Given the description of an element on the screen output the (x, y) to click on. 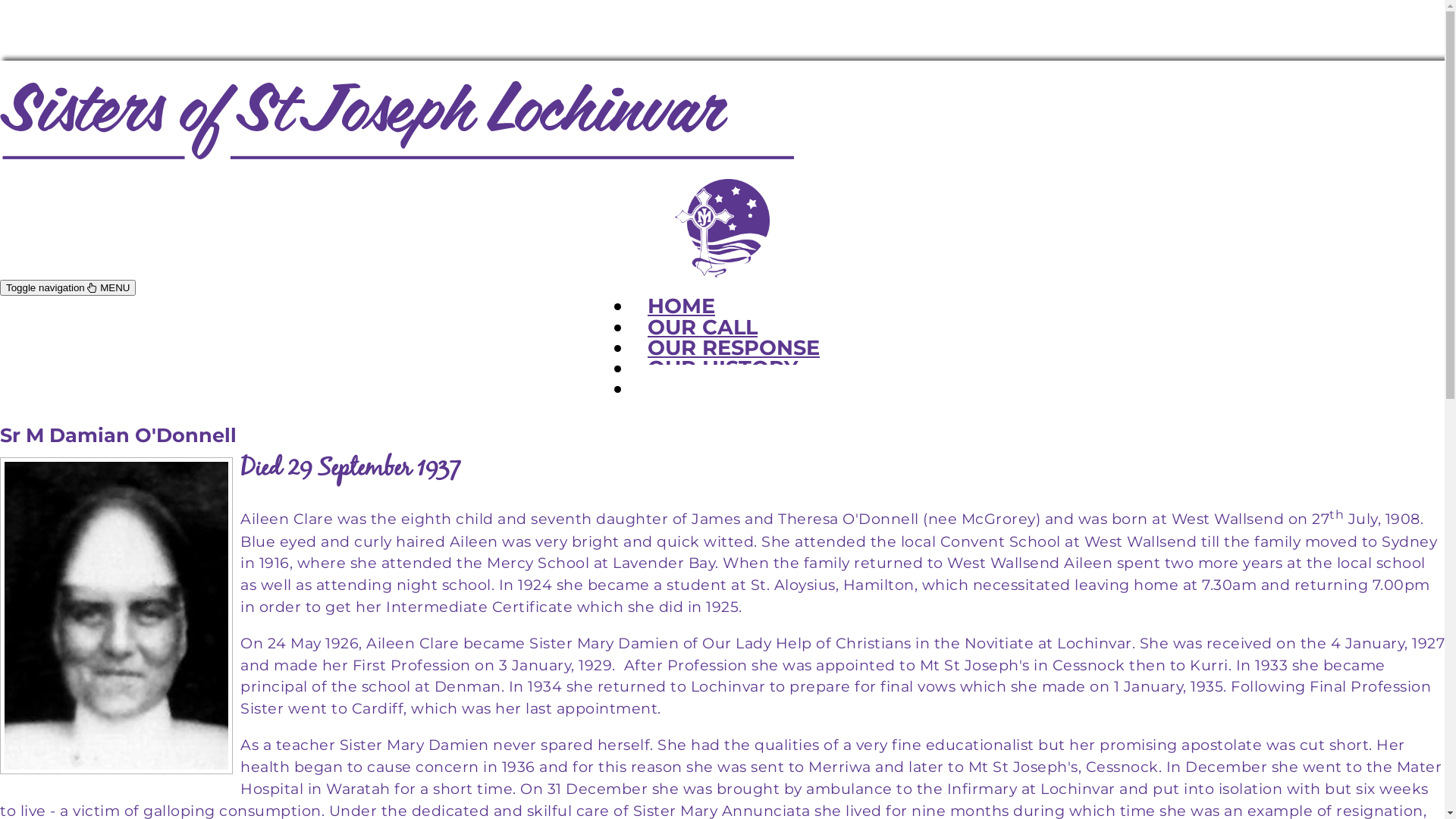
OUR CALL Element type: text (702, 327)
NEWS & EVENTS Element type: text (737, 388)
OUR RESPONSE Element type: text (733, 347)
OUR HISTORY Element type: text (722, 368)
Toggle navigation MENU Element type: text (67, 287)
Sisters of St Joseph of Lochinvar Element type: hover (721, 273)
HOME Element type: text (681, 305)
Go to Sisters of St Joseph of Lochinvar Homepage Element type: hover (396, 150)
